Given the description of an element on the screen output the (x, y) to click on. 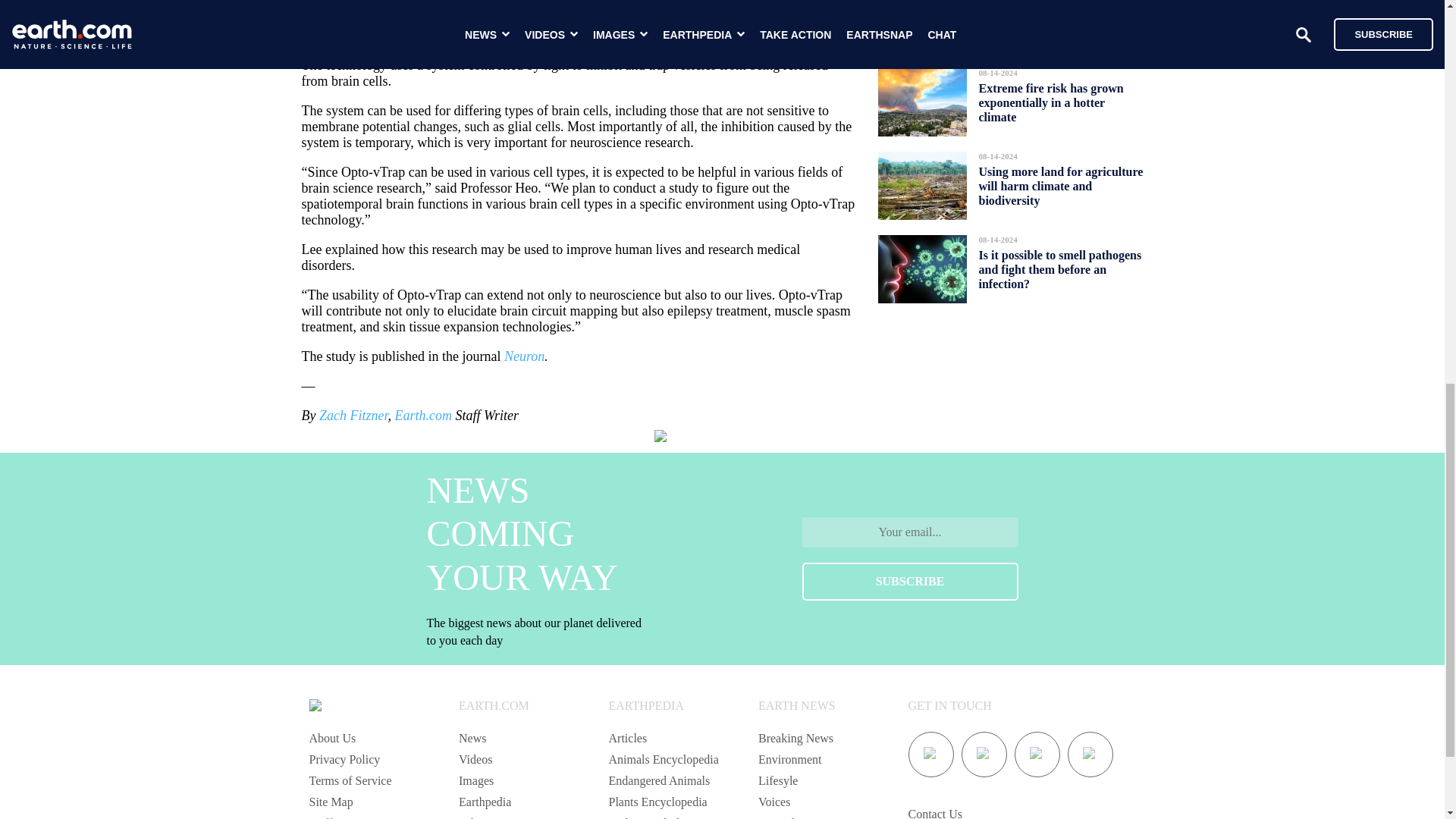
About Us (332, 738)
Earth.com (422, 415)
SUBSCRIBE (909, 581)
Neuron (523, 355)
Zach Fitzner (353, 415)
